Given the description of an element on the screen output the (x, y) to click on. 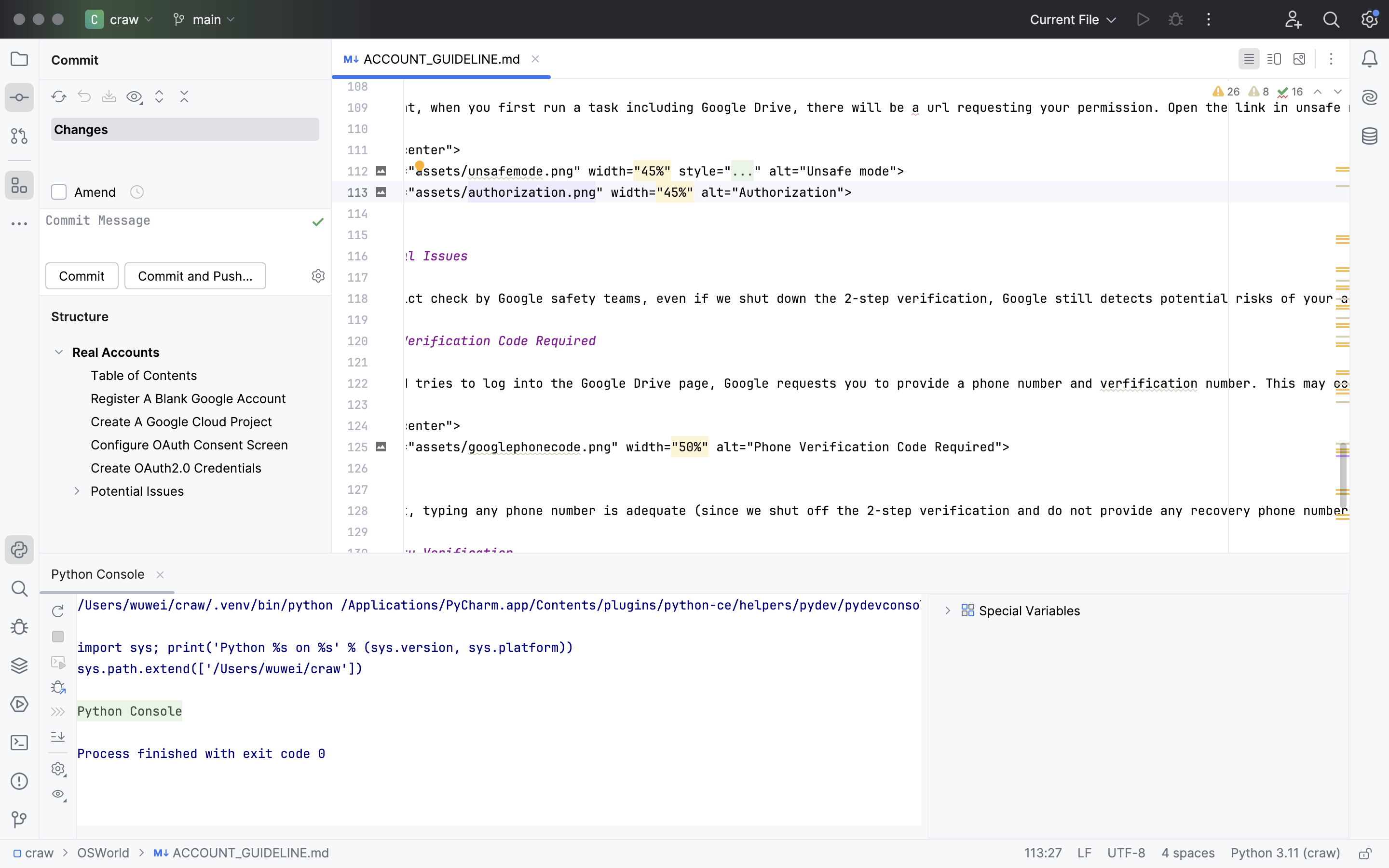
Python 3.11 (craw) Element type: AXStaticText (1285, 854)
Make file read-only Element type: AXStaticText (1363, 854)
Commit Element type: AXStaticText (76, 59)
